Given the description of an element on the screen output the (x, y) to click on. 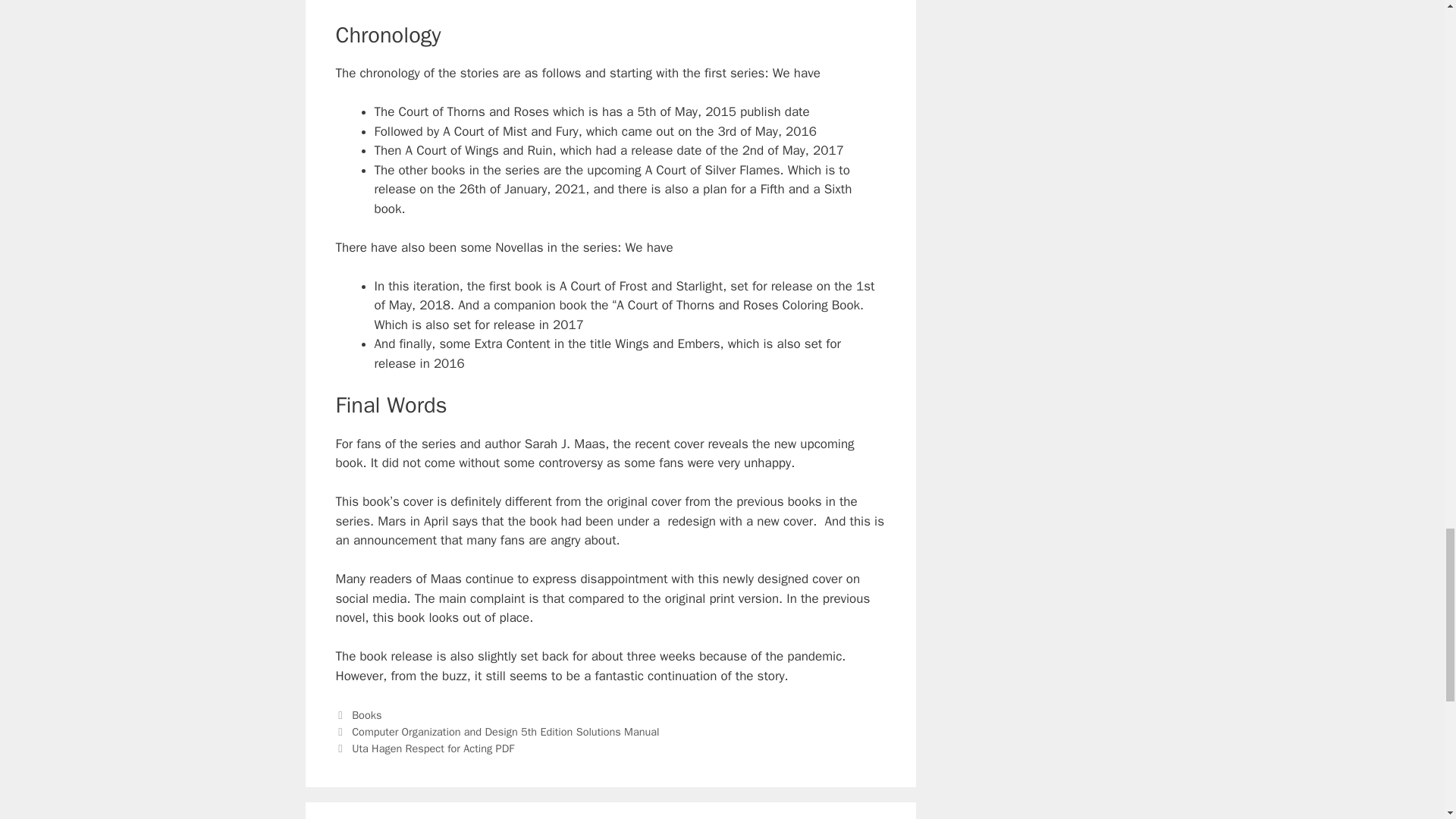
Books (366, 714)
Uta Hagen Respect for Acting PDF (432, 748)
